Given the description of an element on the screen output the (x, y) to click on. 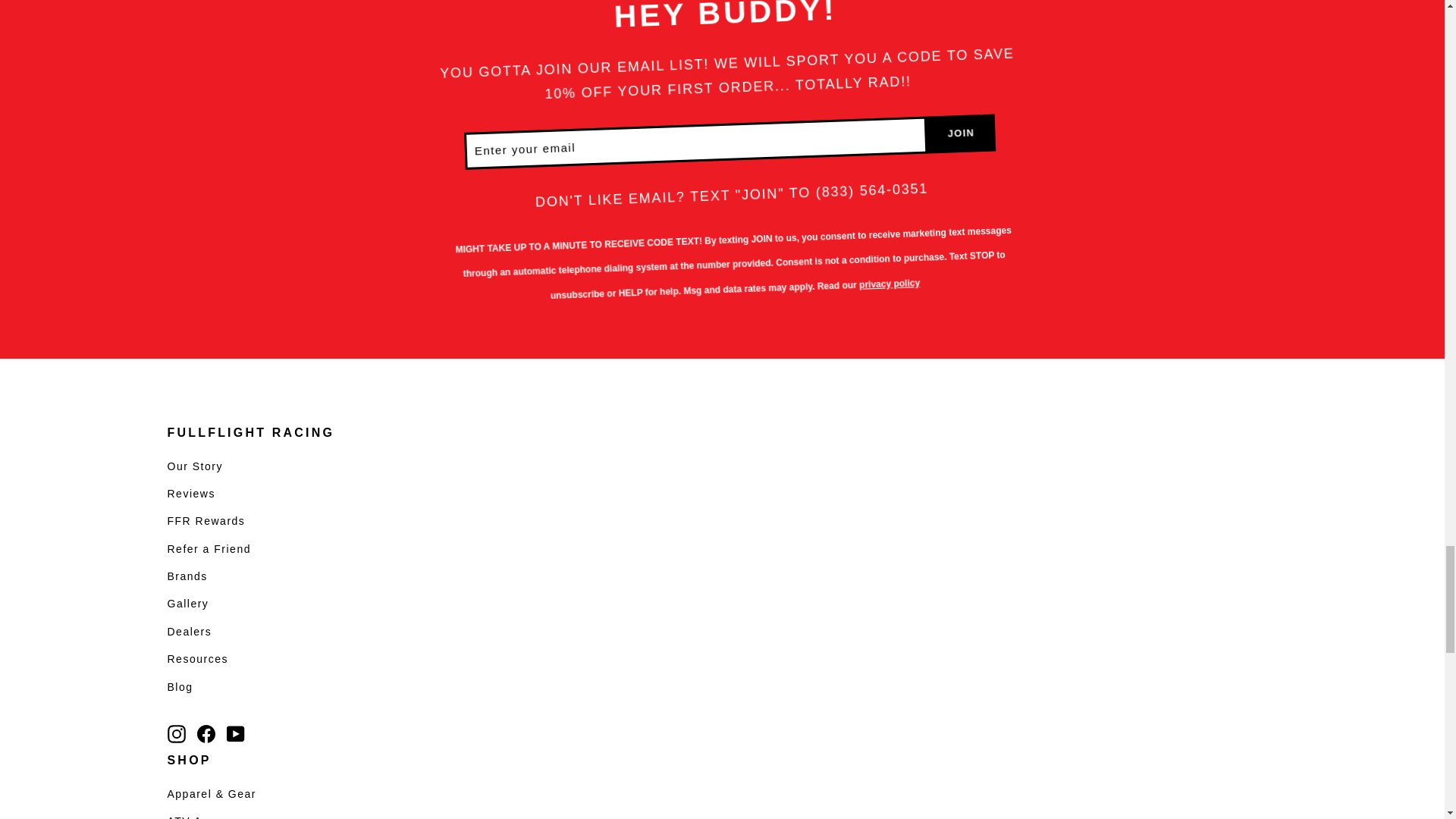
FullFlight Racing  on Facebook (205, 733)
FullFlight Racing  on YouTube (234, 733)
Privacy Policy (888, 281)
instagram (175, 733)
FullFlight Racing  on Instagram (175, 733)
